Given the description of an element on the screen output the (x, y) to click on. 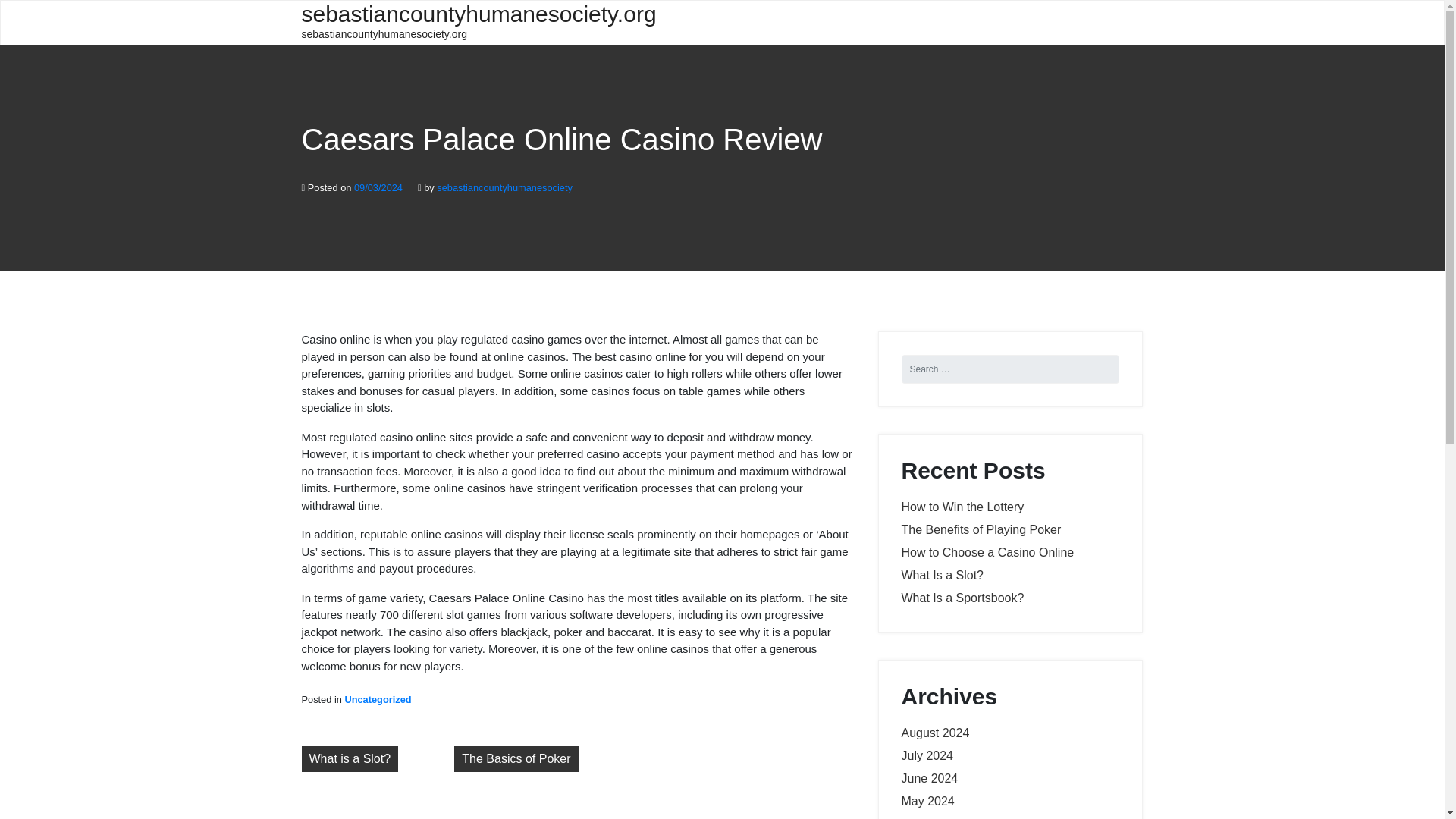
What Is a Sportsbook? (962, 597)
Uncategorized (376, 699)
The Benefits of Playing Poker (981, 529)
April 2024 (928, 818)
What Is a Slot? (942, 574)
June 2024 (929, 778)
What is a Slot? (349, 759)
How to Choose a Casino Online (987, 552)
The Basics of Poker (516, 759)
How to Win the Lottery (962, 506)
July 2024 (927, 755)
May 2024 (927, 800)
August 2024 (935, 732)
sebastiancountyhumanesociety (504, 187)
